Given the description of an element on the screen output the (x, y) to click on. 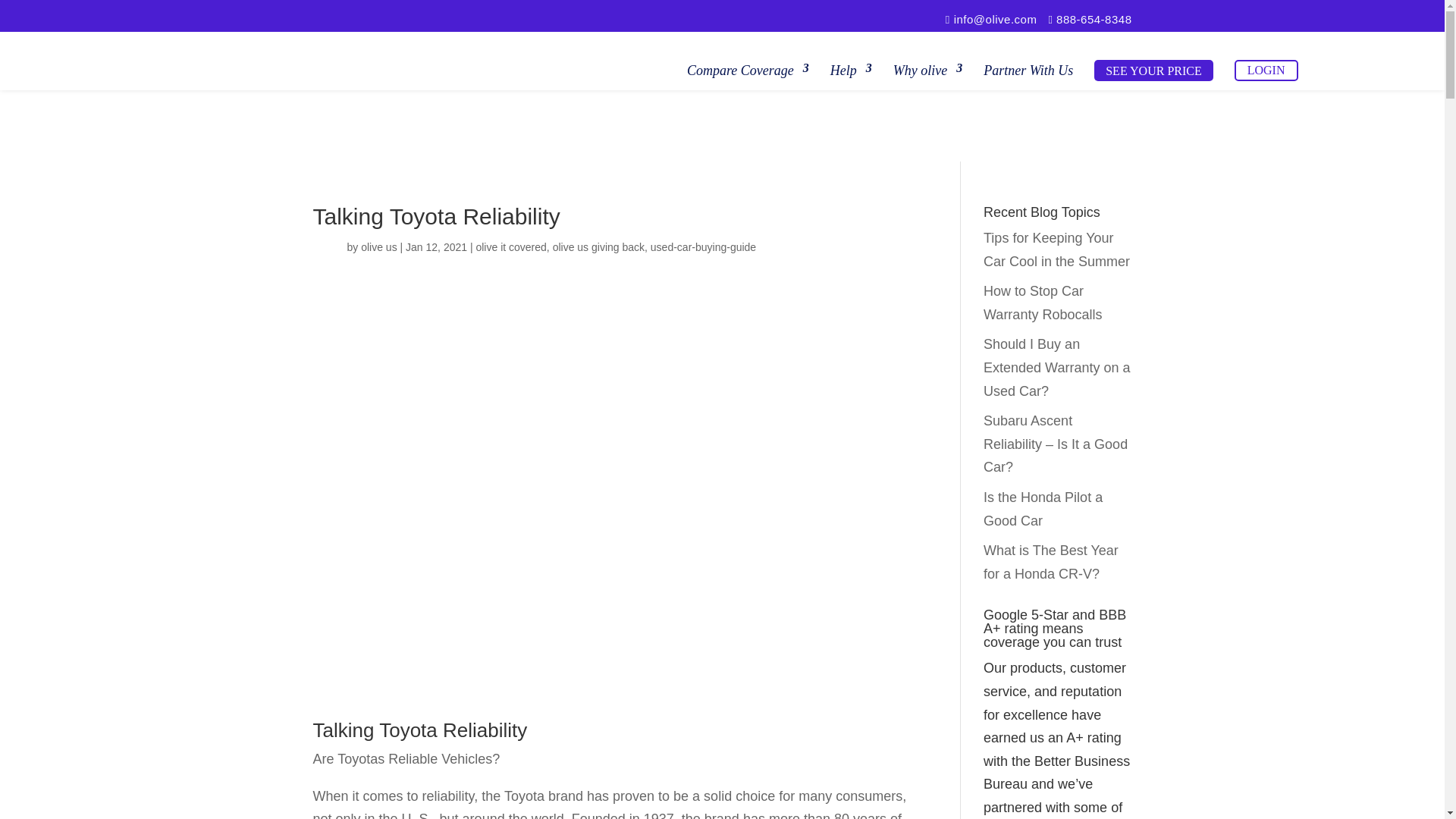
Tips for Keeping Your Car Cool in the Summer (1056, 249)
Is the Honda Pilot a Good Car (1043, 508)
888-654-8348 (1089, 19)
How to Stop Car Warranty Robocalls (1043, 302)
Compare Coverage (748, 69)
olive it covered (511, 246)
Help (850, 69)
SEE YOUR PRICE (1153, 69)
olive us (378, 246)
Posts by olive us (378, 246)
